Given the description of an element on the screen output the (x, y) to click on. 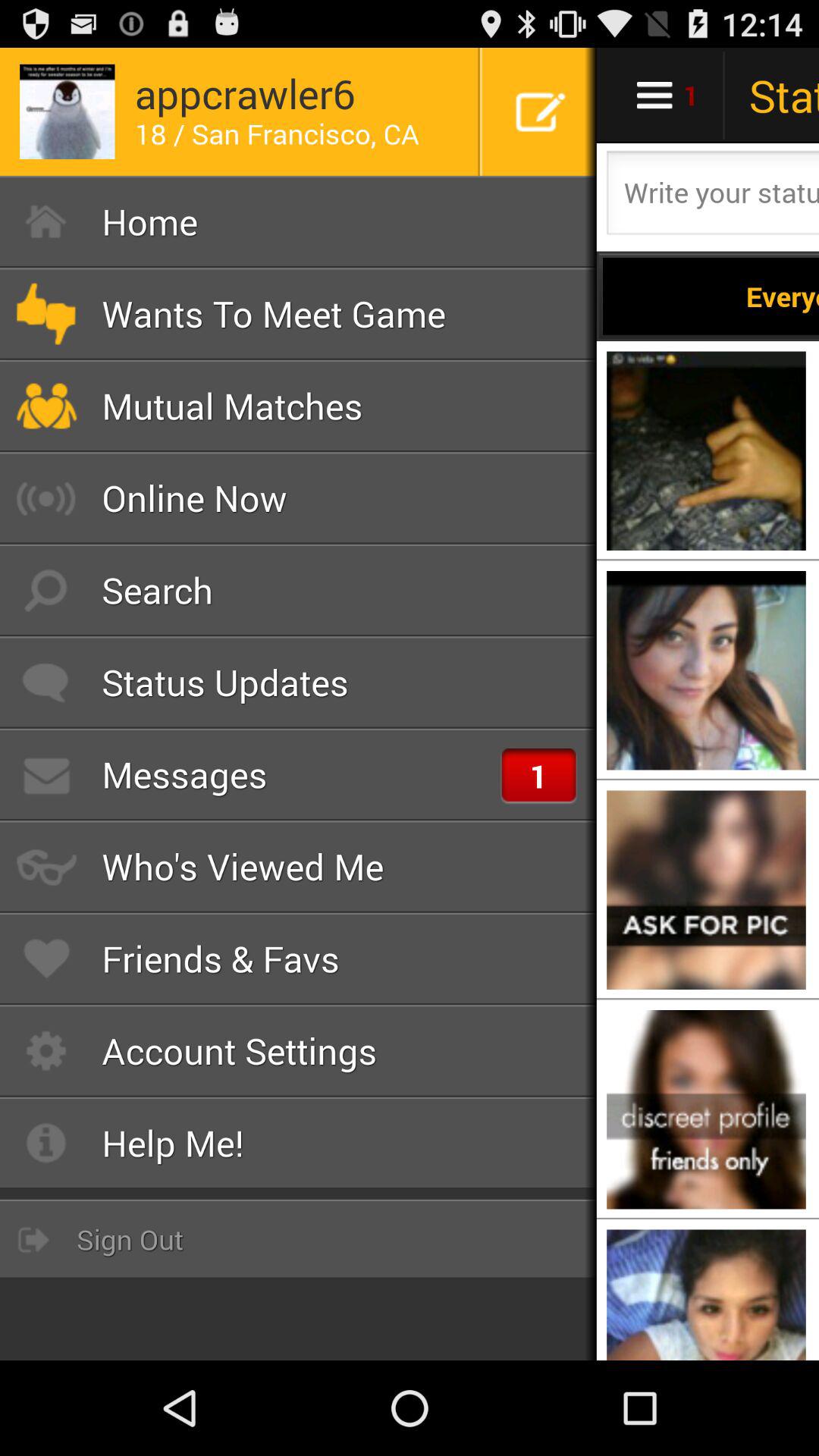
turn off sign out button (298, 1239)
